Given the description of an element on the screen output the (x, y) to click on. 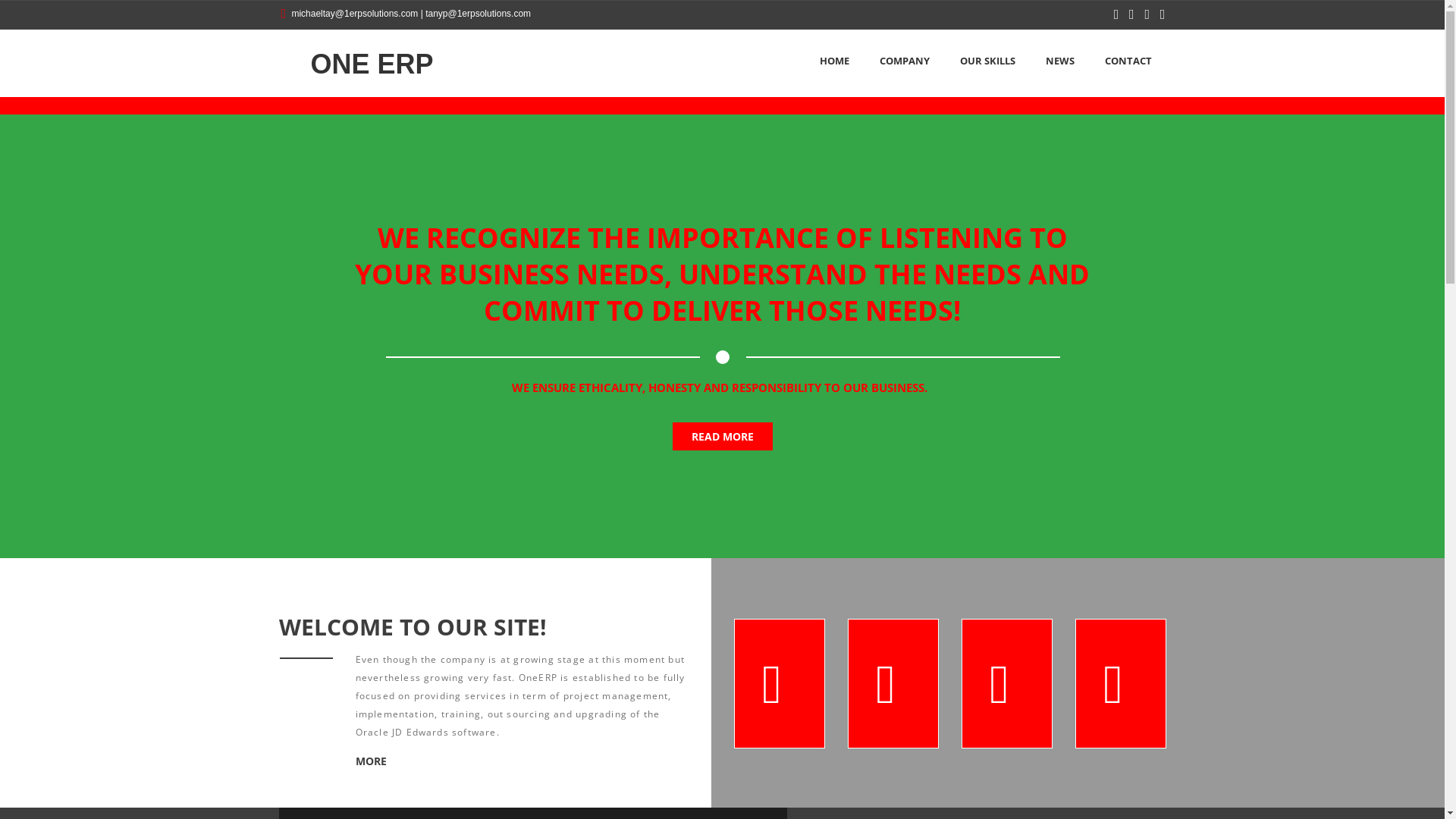
OUR SKILLS Element type: text (986, 60)
CONTACT Element type: text (1128, 60)
michaeltay@1erpsolutions.com Element type: text (354, 13)
READ MORE Element type: text (721, 436)
tanyp@1erpsolutions.com Element type: text (477, 13)
MORE Element type: text (369, 760)
ONE ERP Element type: text (356, 64)
HOME Element type: text (834, 60)
COMPANY Element type: text (903, 60)
NEWS Element type: text (1059, 60)
